Given the description of an element on the screen output the (x, y) to click on. 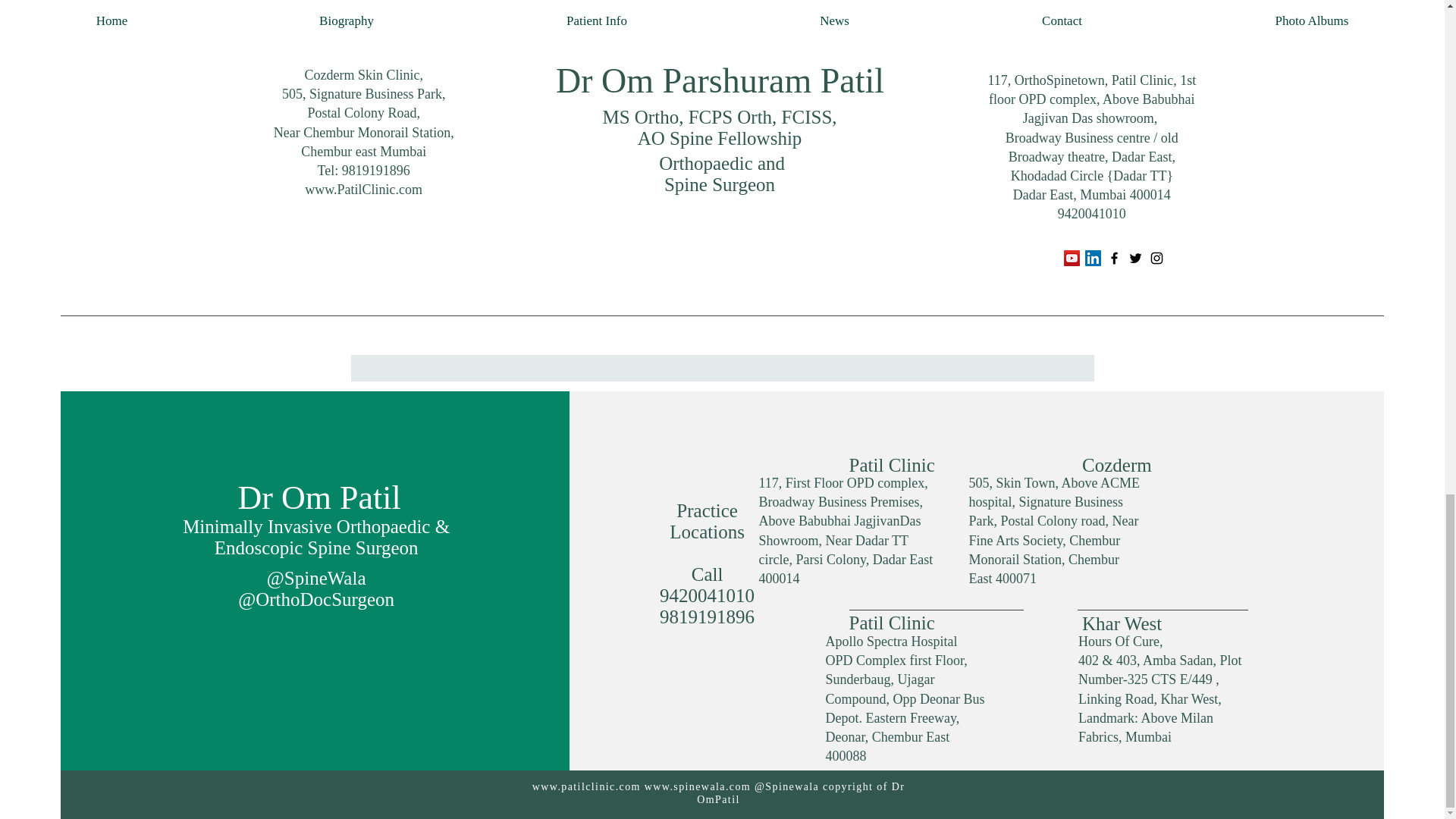
Spine Health (972, 24)
See All (1061, 122)
